Given the description of an element on the screen output the (x, y) to click on. 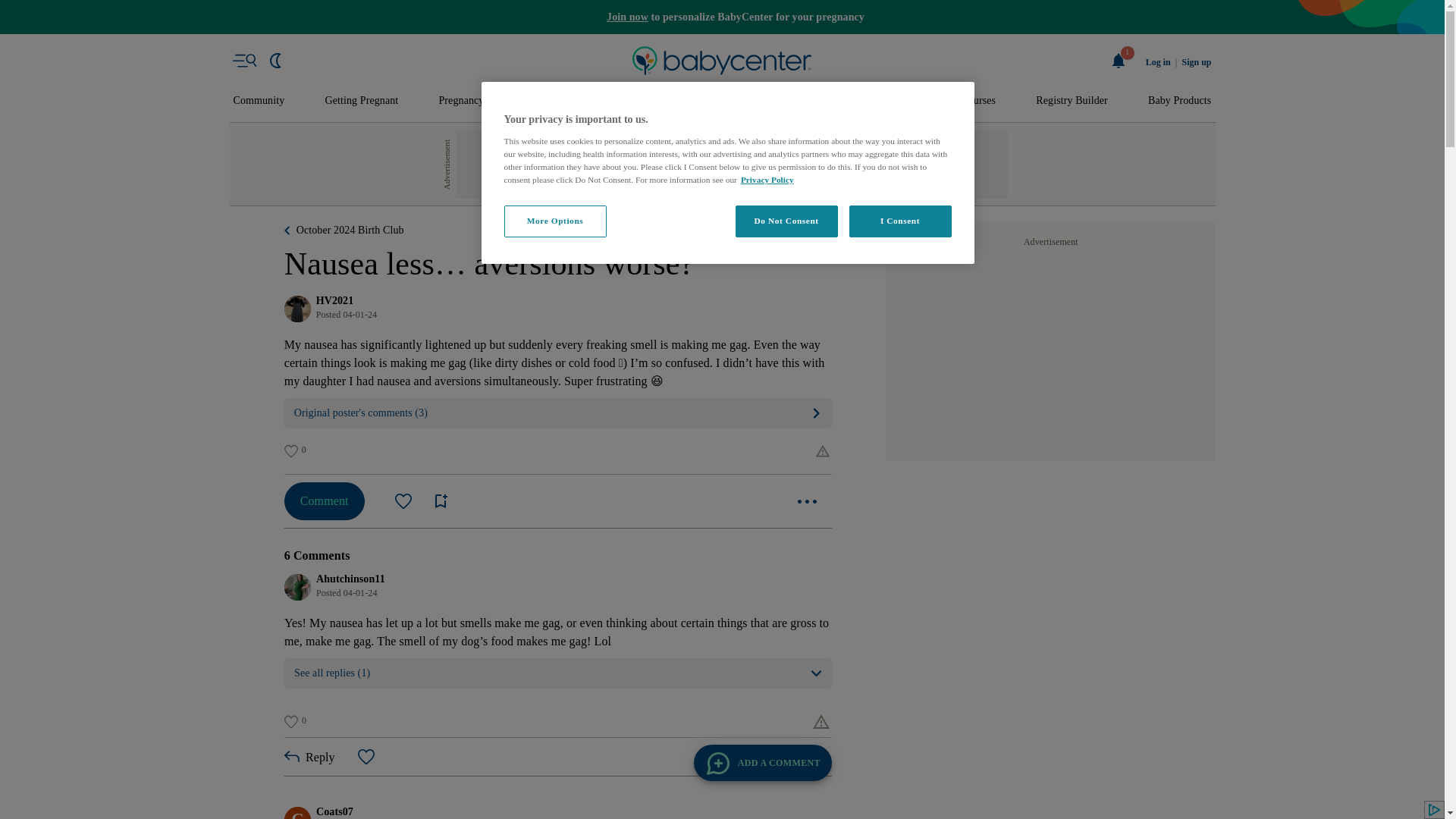
Baby Names (551, 101)
Log in (1157, 61)
Child (768, 101)
Family (904, 101)
Toddler (699, 101)
Registry Builder (1071, 101)
Health (835, 101)
Community (258, 101)
1 (1118, 60)
Baby Products (1179, 101)
Courses (977, 101)
Sign up (1195, 61)
Baby (631, 101)
Getting Pregnant (360, 101)
Pregnancy (460, 101)
